Given the description of an element on the screen output the (x, y) to click on. 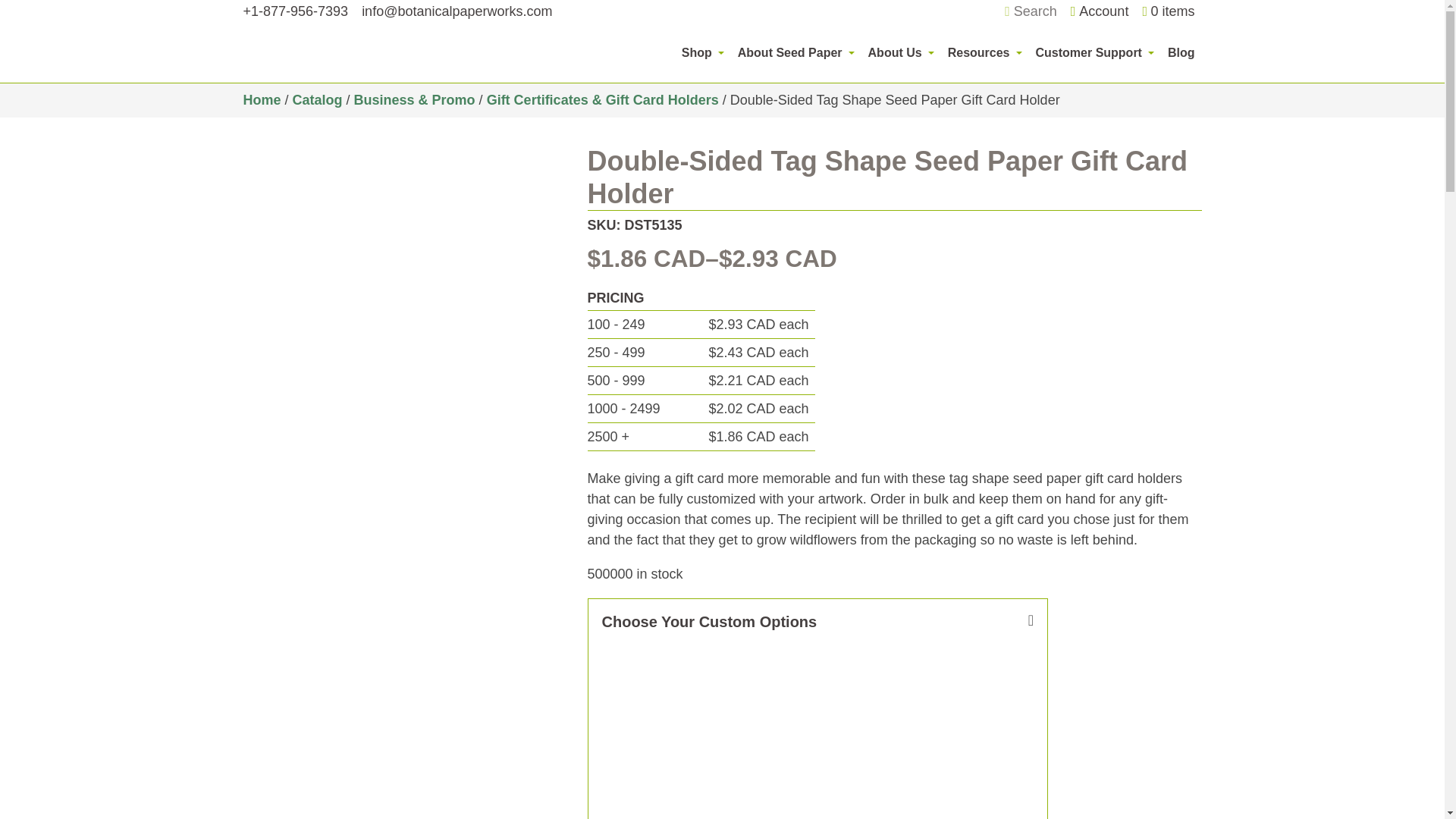
Search (1030, 11)
Account (1099, 10)
Start shopping (1167, 11)
Shop (702, 52)
0 items (1167, 11)
